Given the description of an element on the screen output the (x, y) to click on. 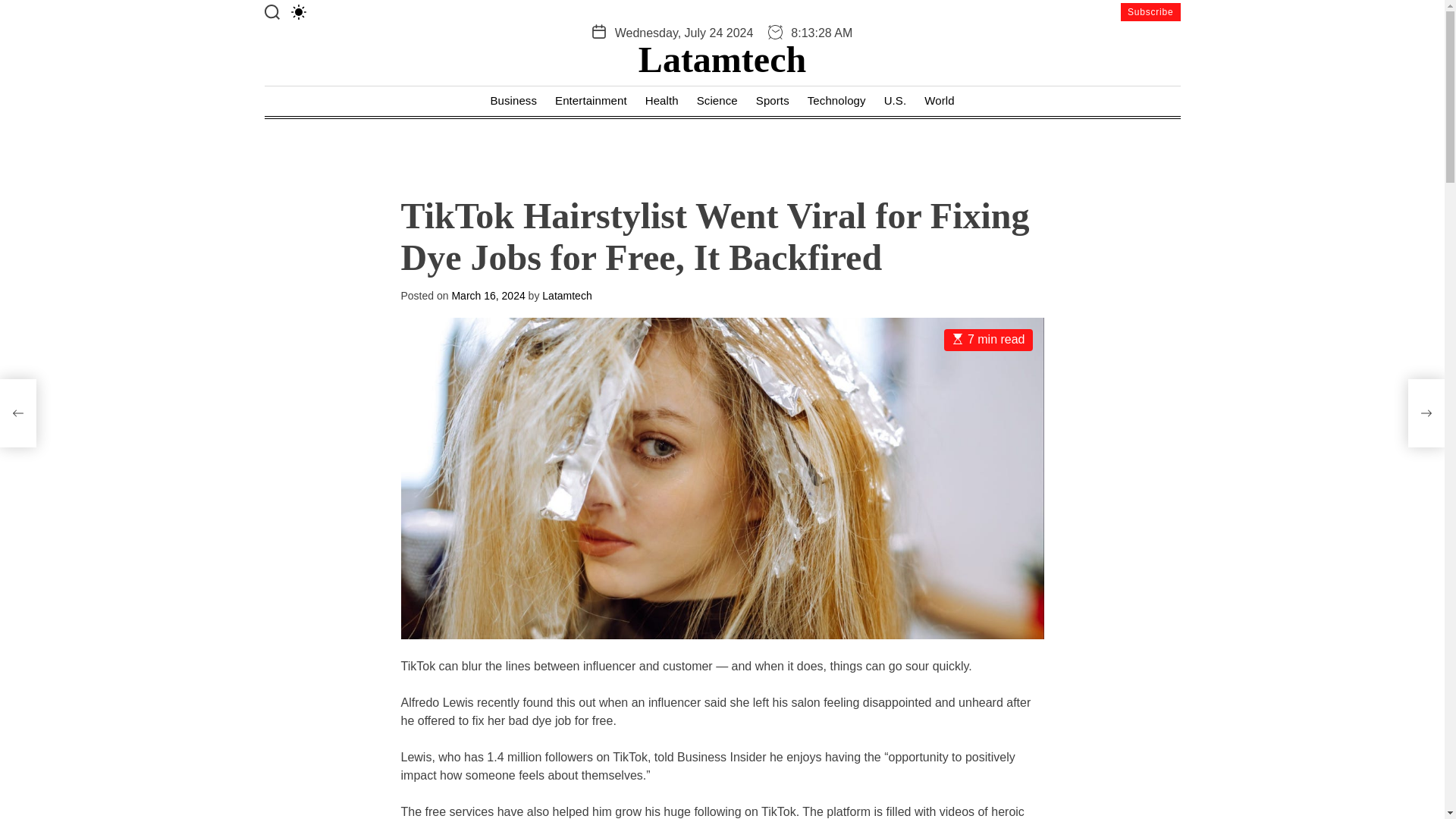
Business (513, 101)
Switch color mode (298, 11)
Health (661, 101)
Subscribe (1150, 12)
Entertainment (590, 101)
Sports (772, 101)
Latamtech (722, 59)
Search (271, 11)
March 16, 2024 (487, 295)
Technology (837, 101)
Latamtech (566, 295)
Science (717, 101)
World (938, 101)
